Given the description of an element on the screen output the (x, y) to click on. 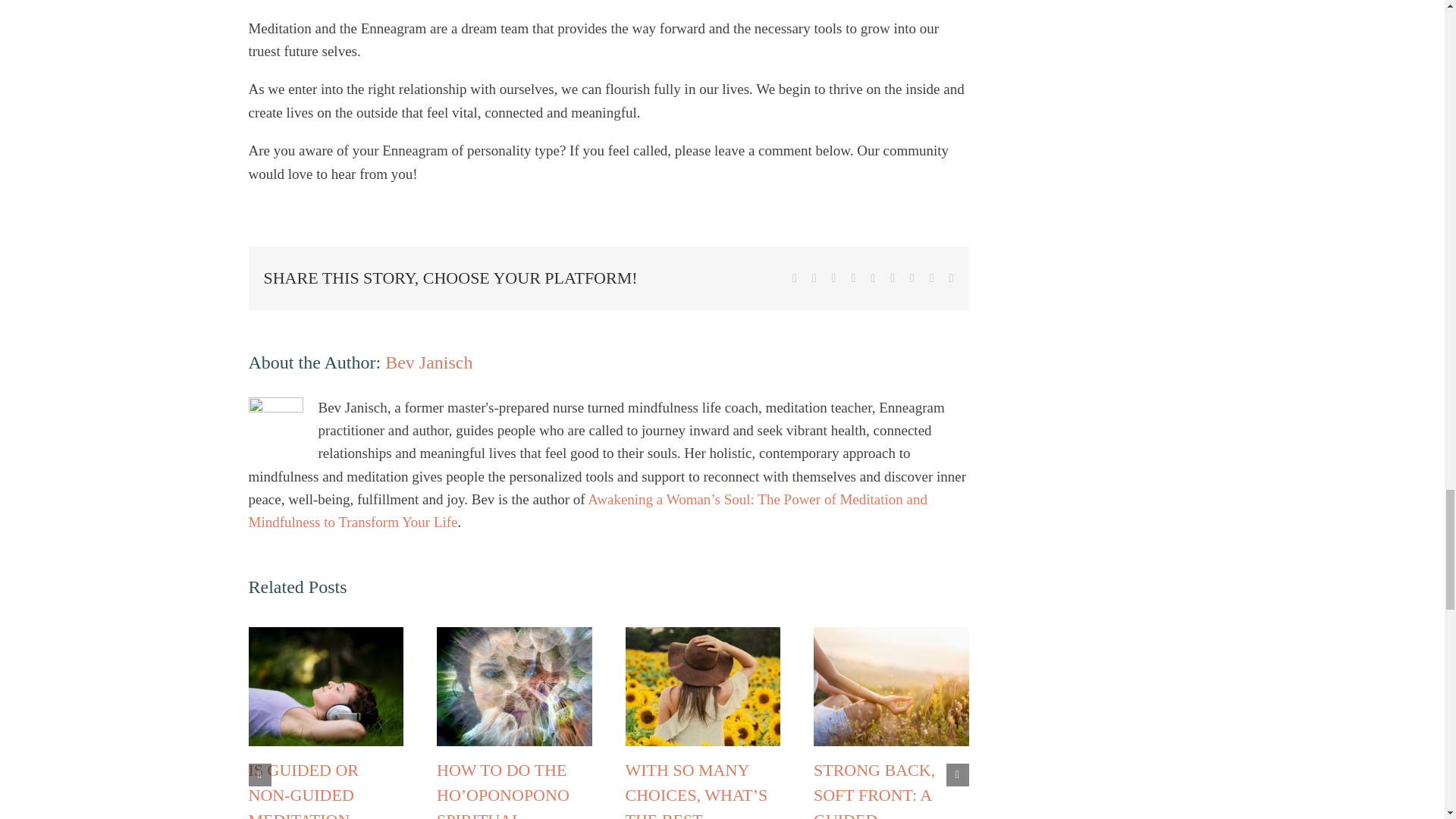
Posts by Bev Janisch (428, 362)
Bev Janisch (428, 362)
